Given the description of an element on the screen output the (x, y) to click on. 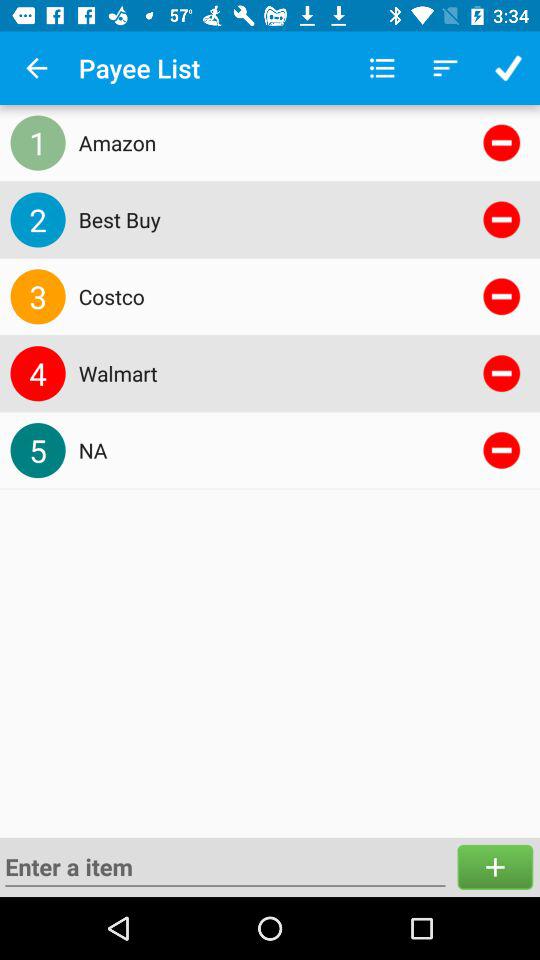
turn on the icon to the right of the payee list (381, 67)
